Given the description of an element on the screen output the (x, y) to click on. 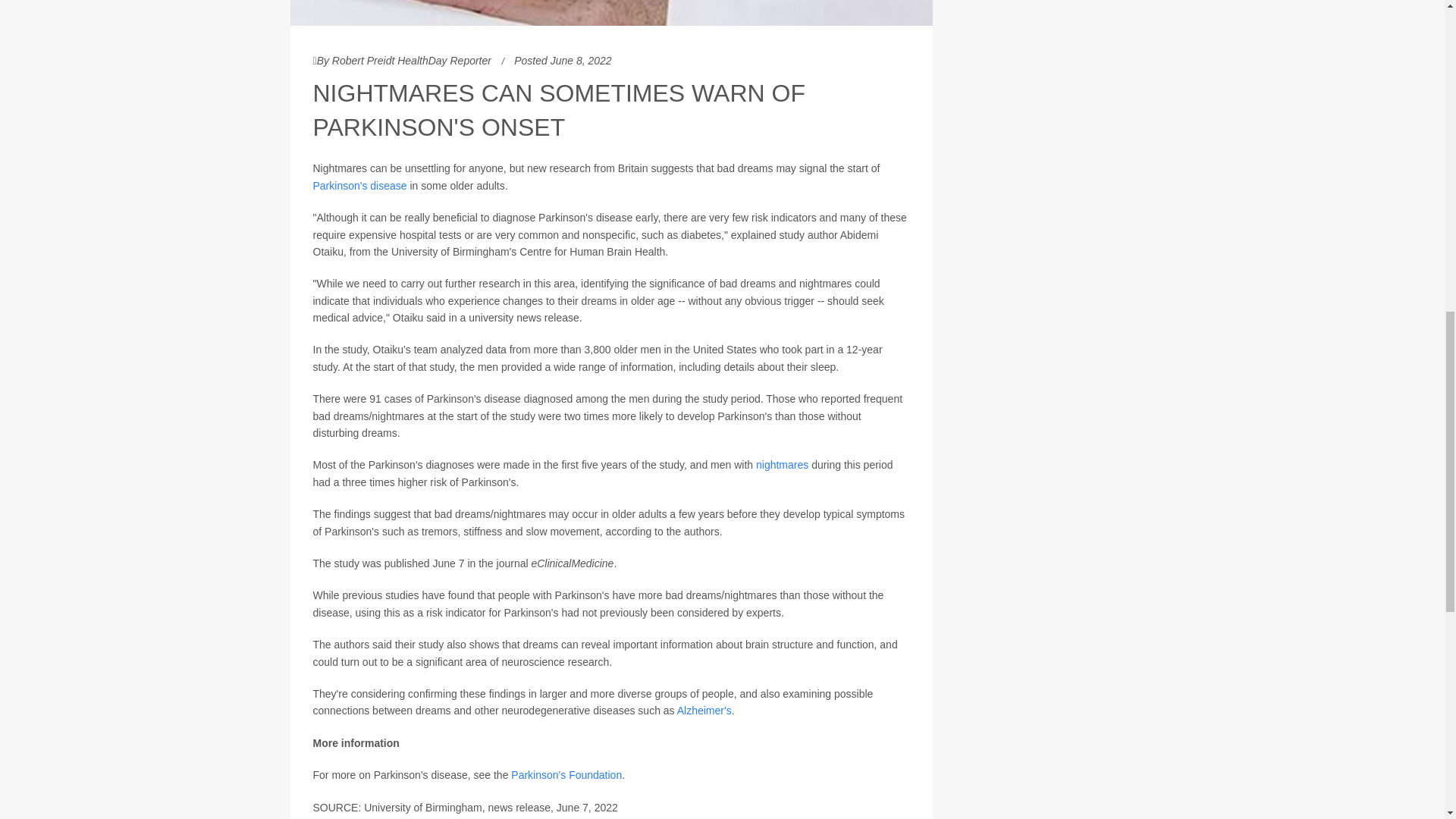
nightmares (781, 464)
Parkinson's disease (359, 185)
Alzheimer's (704, 710)
